Given the description of an element on the screen output the (x, y) to click on. 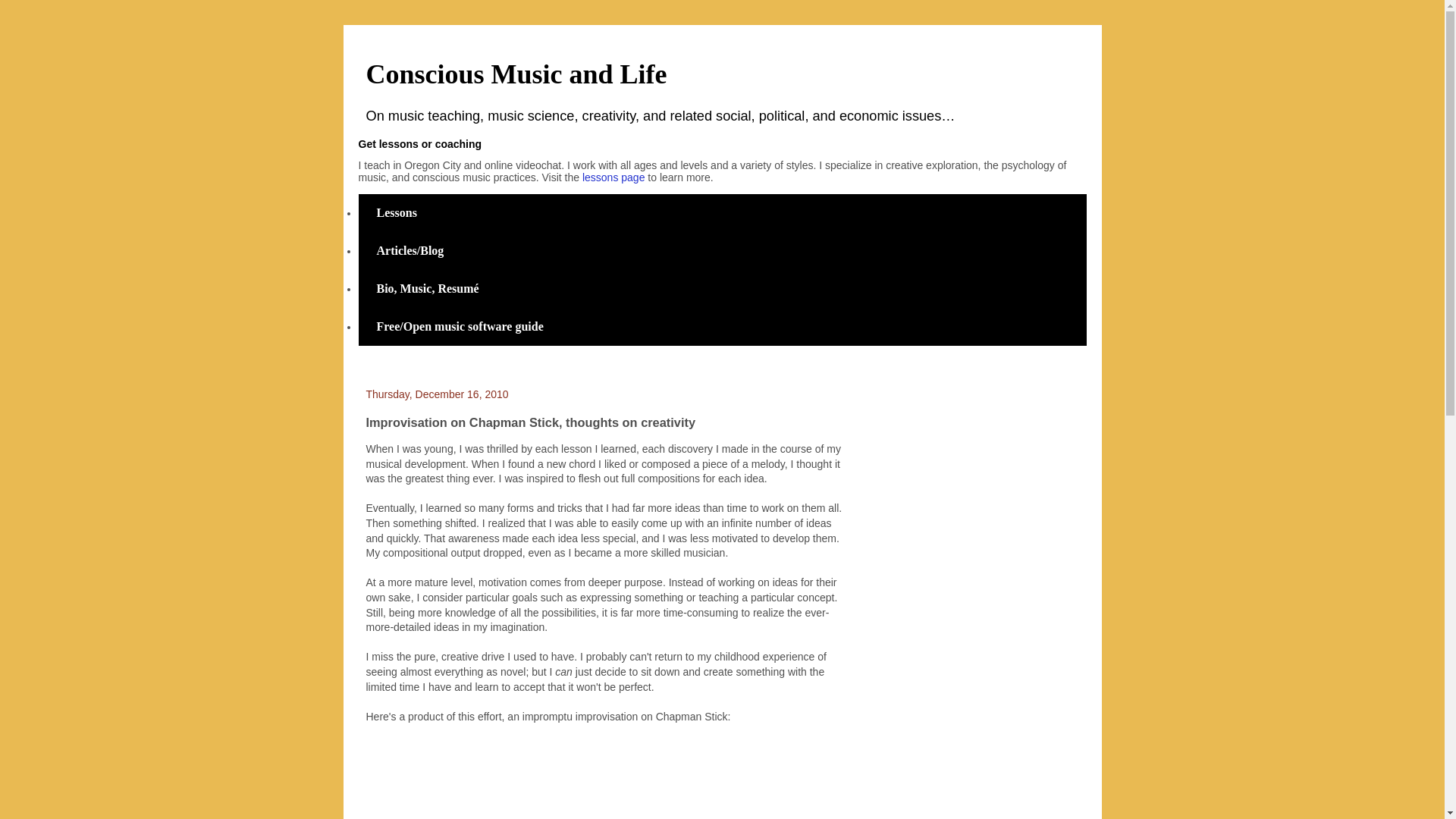
lessons page (613, 177)
Conscious Music and Life (515, 73)
Lessons (395, 212)
